Given the description of an element on the screen output the (x, y) to click on. 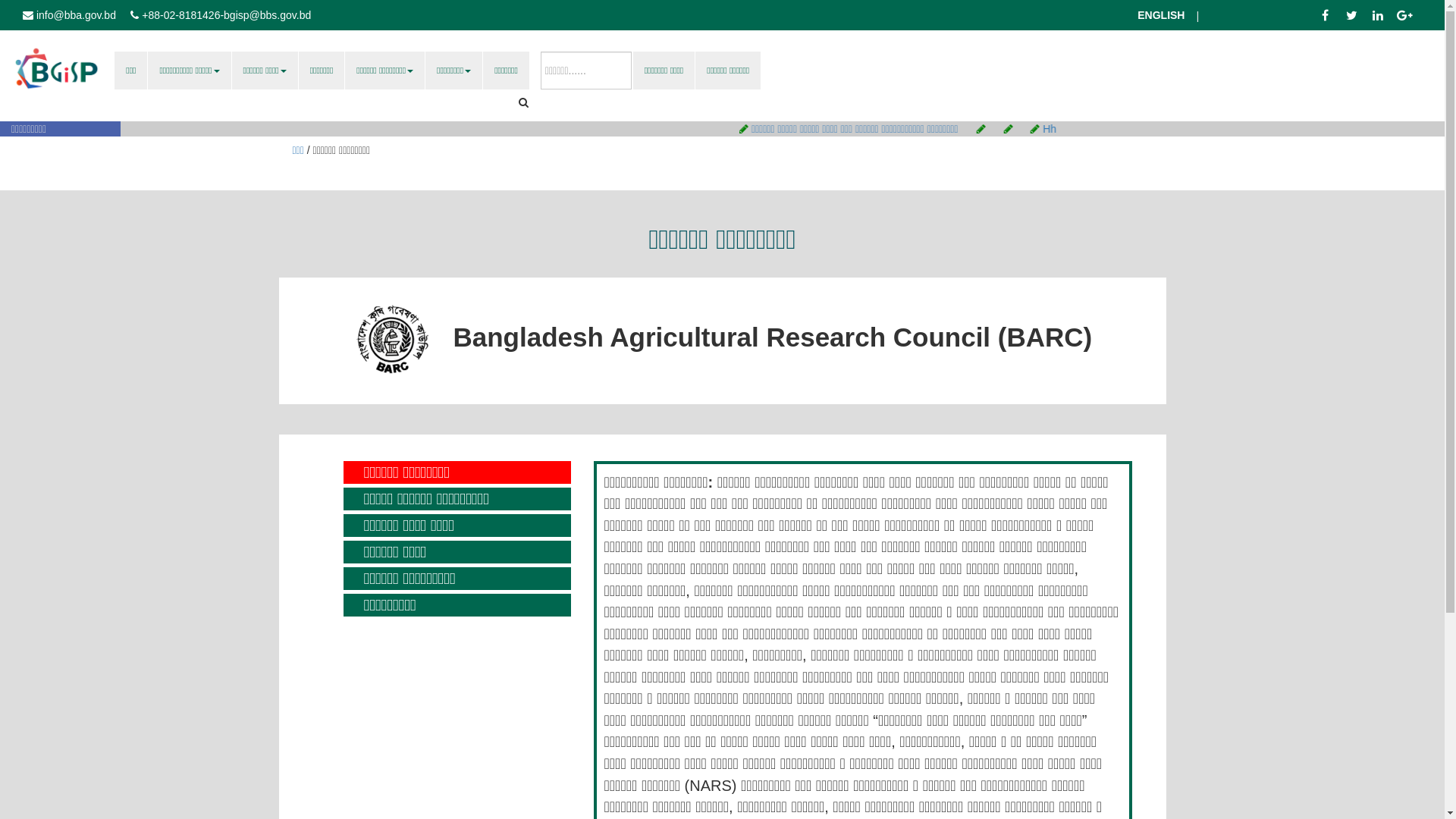
Hh Element type: text (1062, 128)
ENGLISH Element type: text (1147, 15)
